Given the description of an element on the screen output the (x, y) to click on. 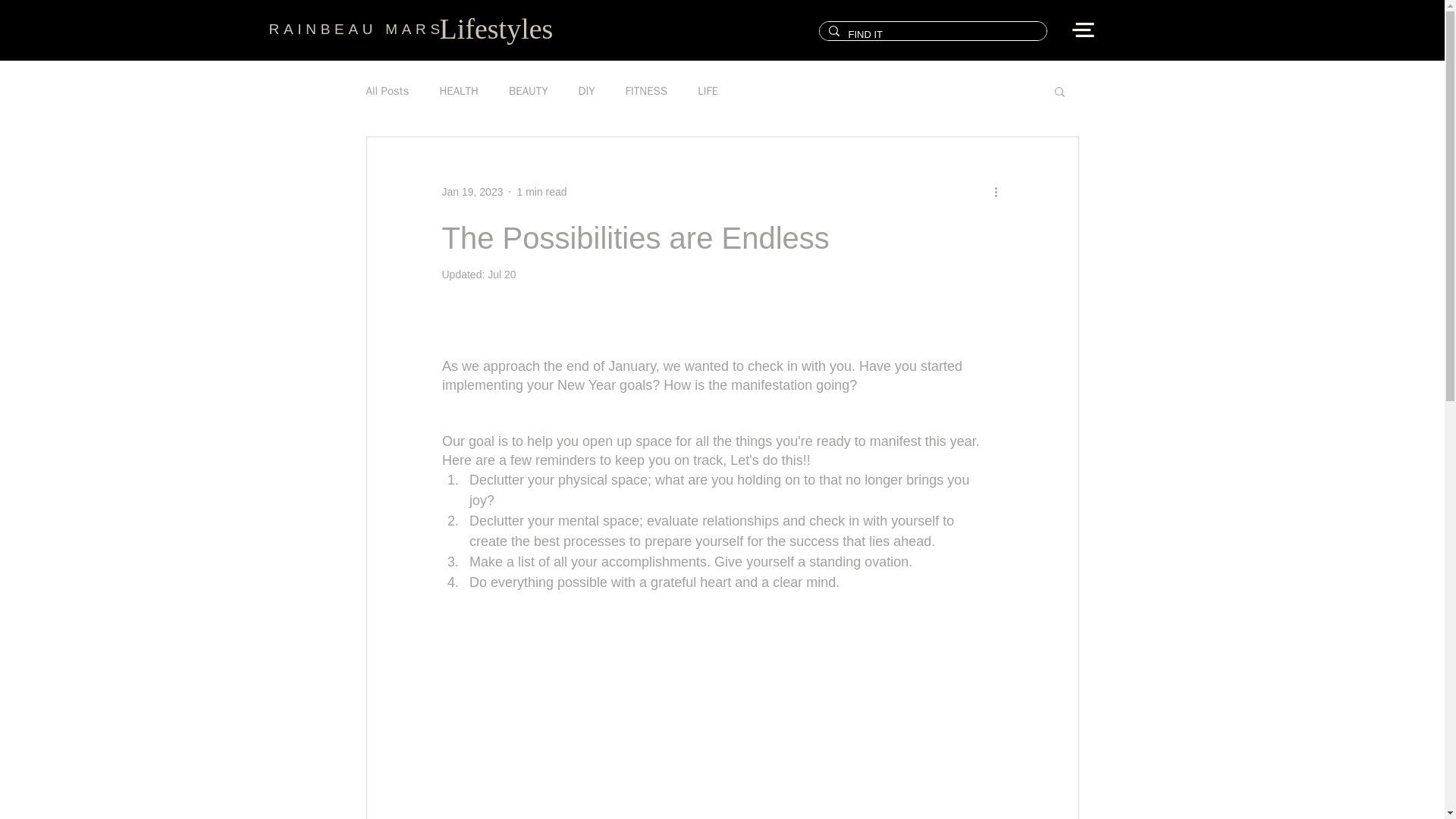
All Posts (387, 90)
DIY (586, 90)
BEAUTY (528, 90)
Jan 19, 2023 (471, 191)
1 min read (541, 191)
LIFE (707, 90)
HEALTH (459, 90)
Jul 20 (501, 274)
Lifestyles (496, 29)
FITNESS (646, 90)
